Given the description of an element on the screen output the (x, y) to click on. 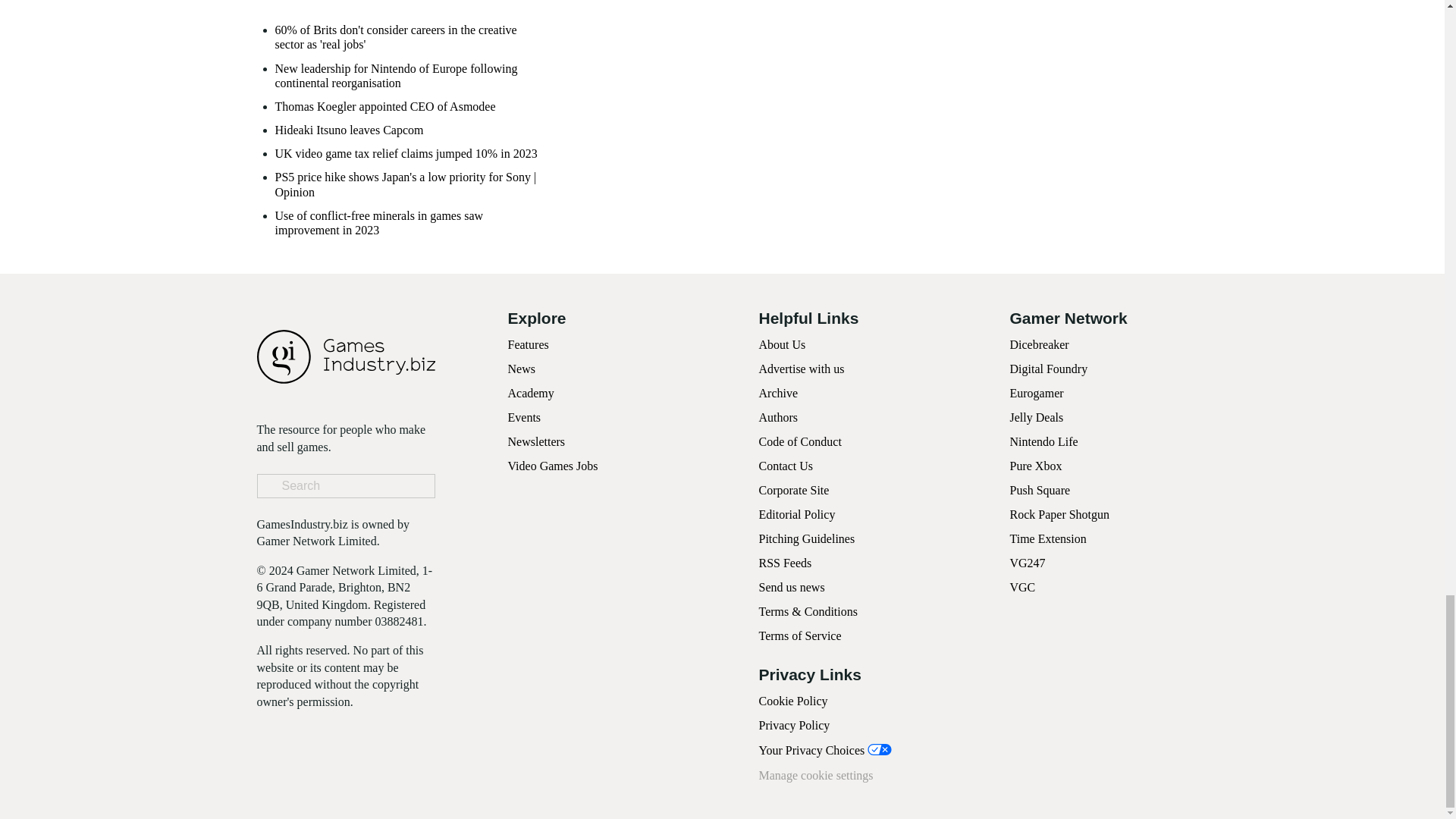
Academy (531, 392)
News (521, 368)
Video Games Jobs (553, 465)
Newsletters (537, 440)
Hideaki Itsuno leaves Capcom (349, 129)
Events (524, 417)
Thomas Koegler appointed CEO of Asmodee (385, 106)
Features (528, 344)
About Us (781, 344)
